Given the description of an element on the screen output the (x, y) to click on. 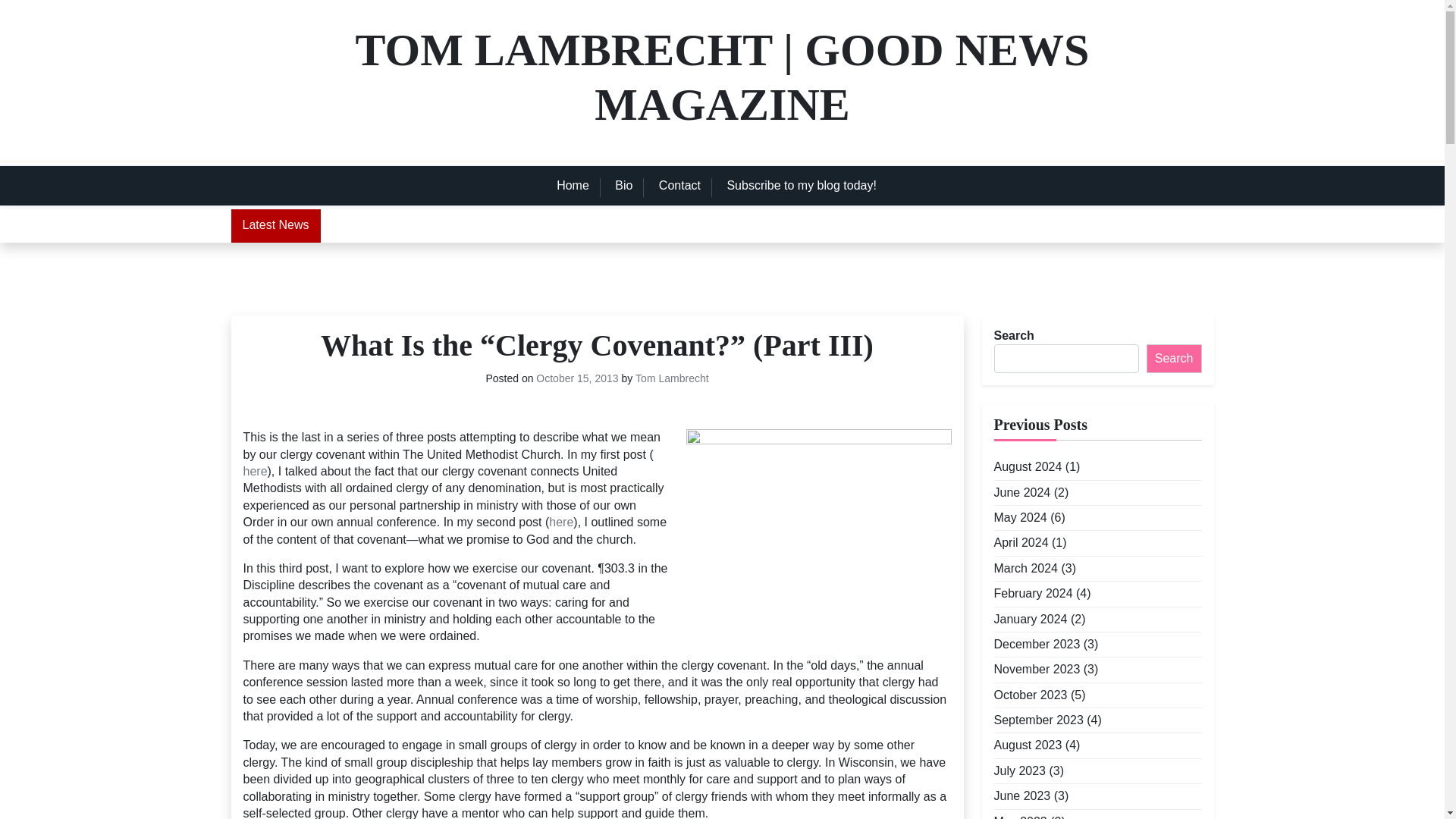
here (560, 522)
May 2023 (1019, 816)
August 2024 (1026, 466)
December 2023 (1036, 644)
here (254, 471)
September 2023 (1037, 719)
August 2023 (1026, 745)
Bio (623, 185)
January 2024 (1029, 619)
Tom Lambrecht (670, 378)
